Given the description of an element on the screen output the (x, y) to click on. 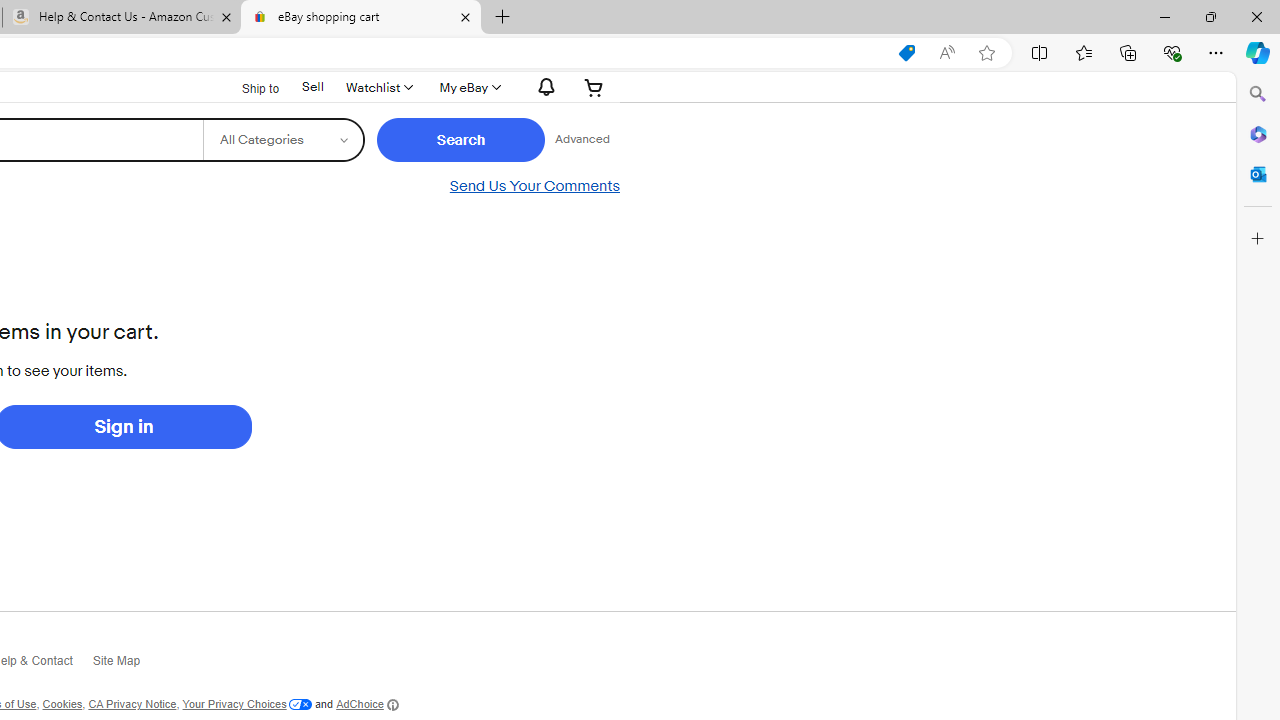
AutomationID: gh-minicart-hover (594, 87)
AutomationID: gh-eb-Alerts (543, 87)
My eBay (468, 87)
eBay shopping cart (360, 17)
Your shopping cart is empty (594, 87)
Sell (312, 86)
WatchlistExpand Watch List (378, 87)
Ship to (248, 88)
